Given the description of an element on the screen output the (x, y) to click on. 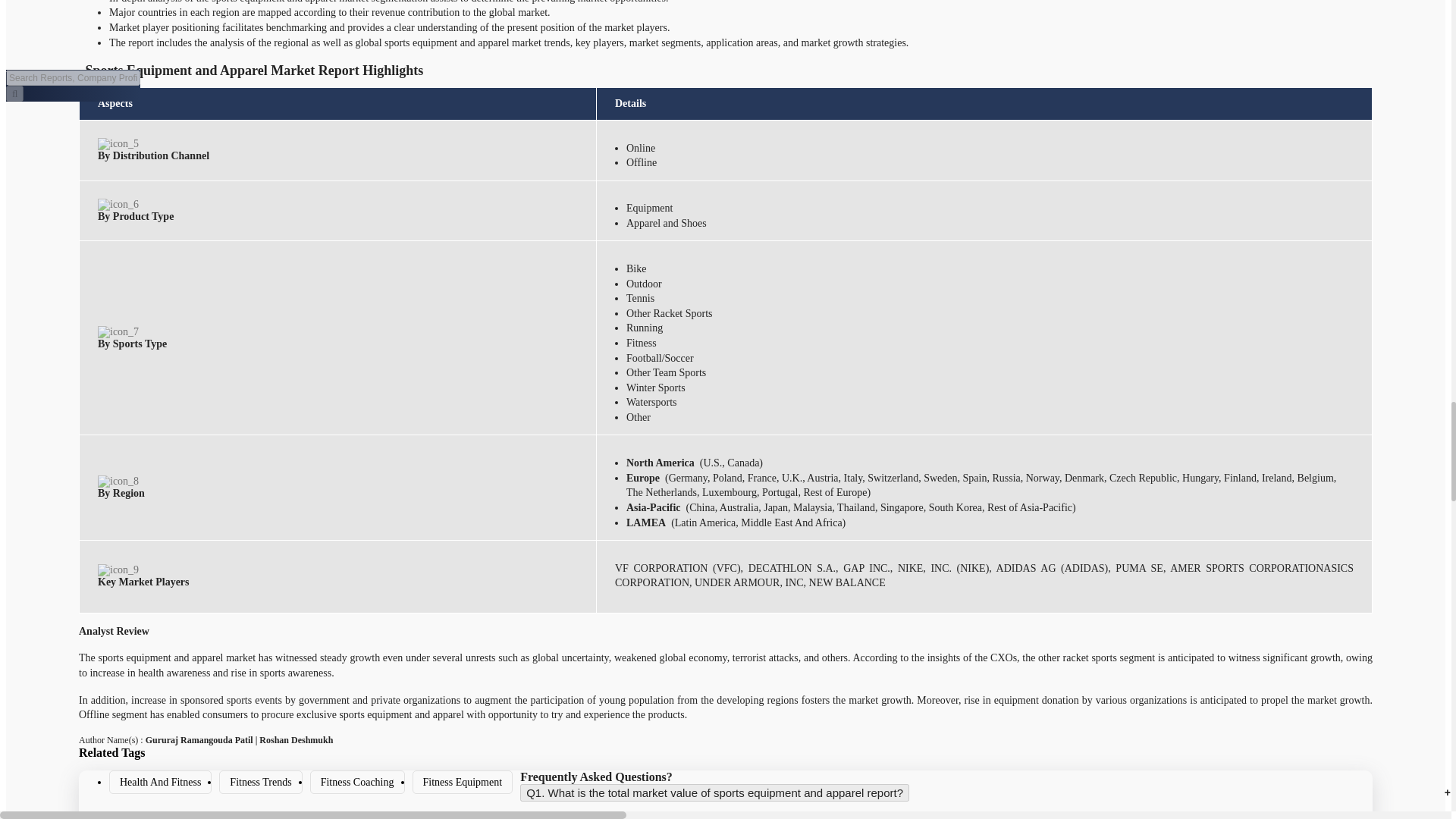
Sports Equipment and Apparel Market By Region (117, 481)
Fitness Trends (260, 782)
Key Market Players (117, 570)
Fitness Coaching (357, 782)
Health And Fitness (159, 782)
Sports Equipment and Apparel Market By Product Type (117, 204)
Sports Equipment and Apparel Market By Distribution Channel (117, 143)
Sports Equipment and Apparel Market By Sports Type (117, 331)
